Given the description of an element on the screen output the (x, y) to click on. 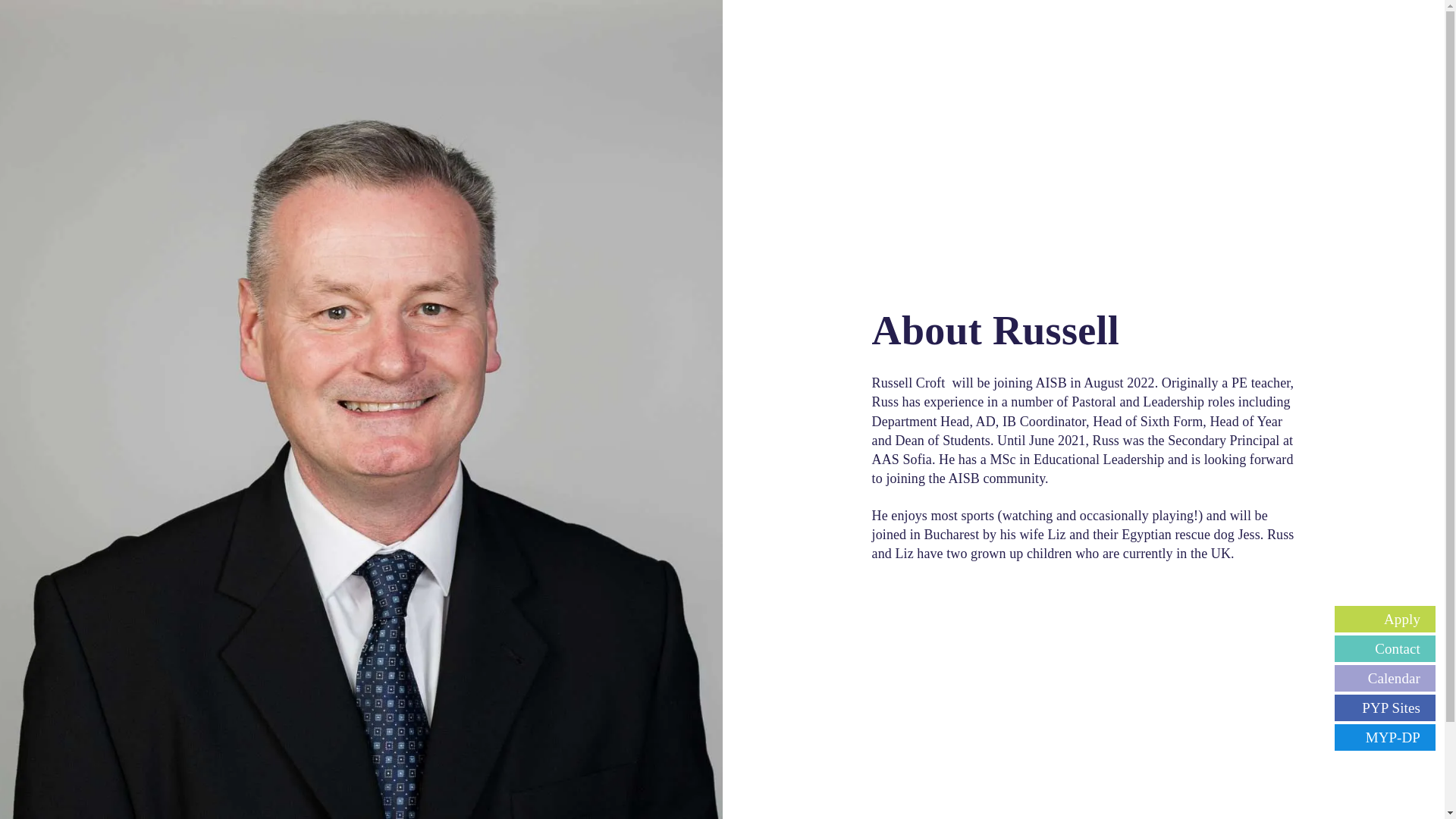
Calendar (1385, 678)
PYP Sites (1385, 707)
Apply (1385, 619)
Contact (1385, 648)
MYP-DP (1385, 737)
